Given the description of an element on the screen output the (x, y) to click on. 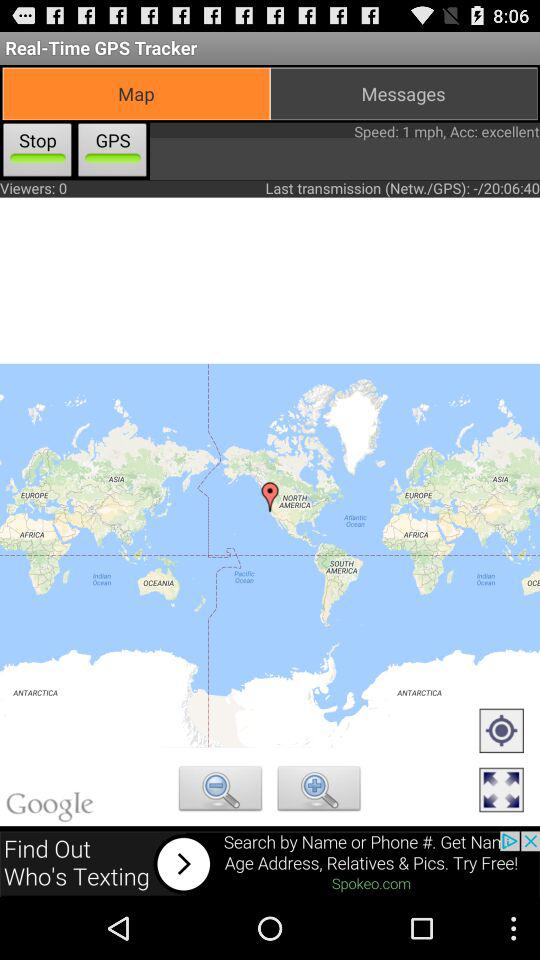
click the zoom-in option (319, 791)
